Given the description of an element on the screen output the (x, y) to click on. 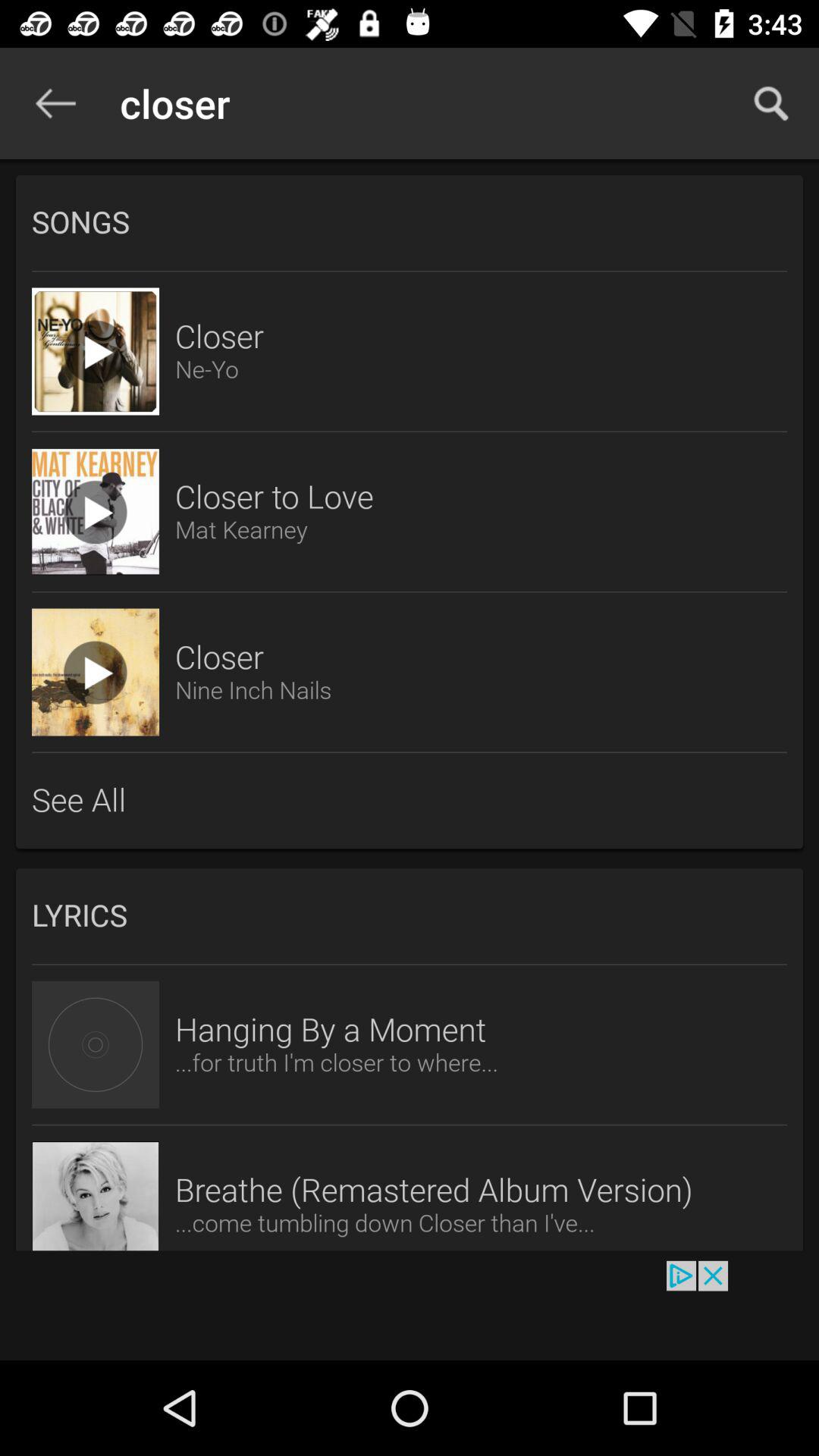
press item above the lyrics (409, 800)
